Given the description of an element on the screen output the (x, y) to click on. 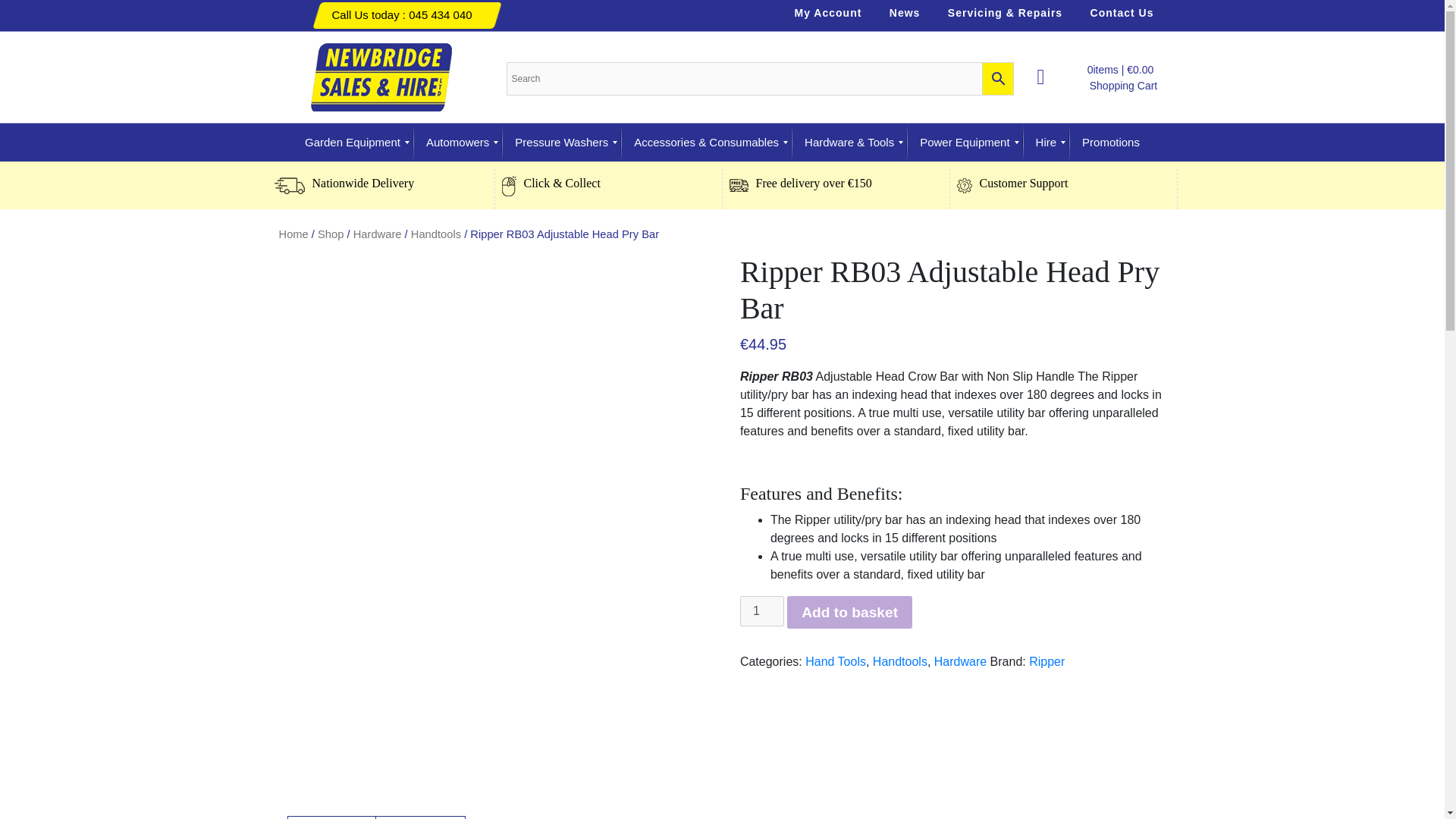
Pressure Washers (561, 142)
Garden Equipment (352, 142)
My Account (829, 13)
Automowers (457, 142)
1 (761, 611)
Call Us today : 045 434 040 (401, 14)
News (905, 13)
Contact Us (1122, 13)
